Given the description of an element on the screen output the (x, y) to click on. 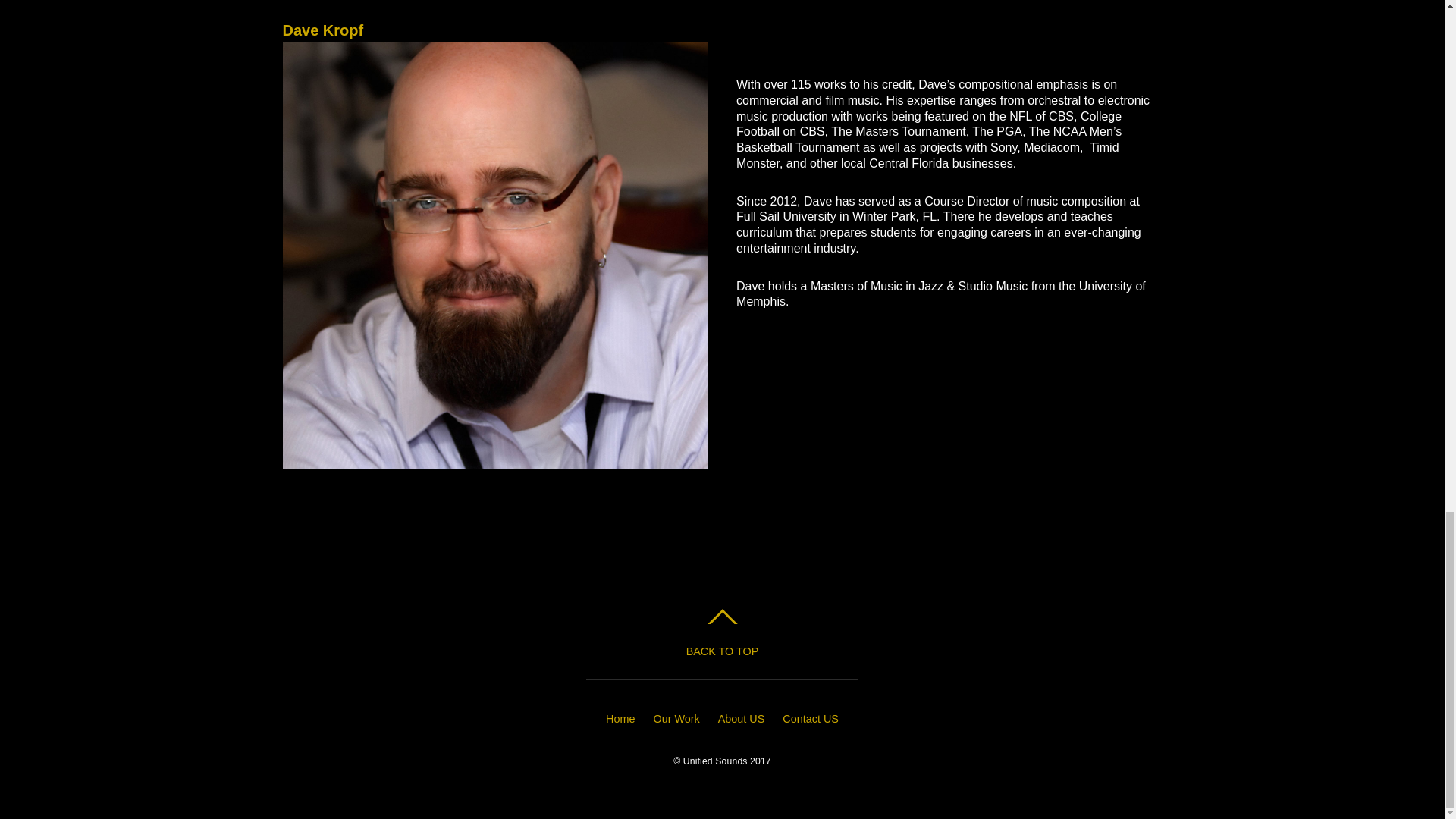
Dave Kropf (322, 30)
Dave Kropf (322, 30)
Contact US (810, 718)
Our Work (675, 718)
BACK TO TOP (721, 636)
Home (619, 718)
About US (741, 718)
